Given the description of an element on the screen output the (x, y) to click on. 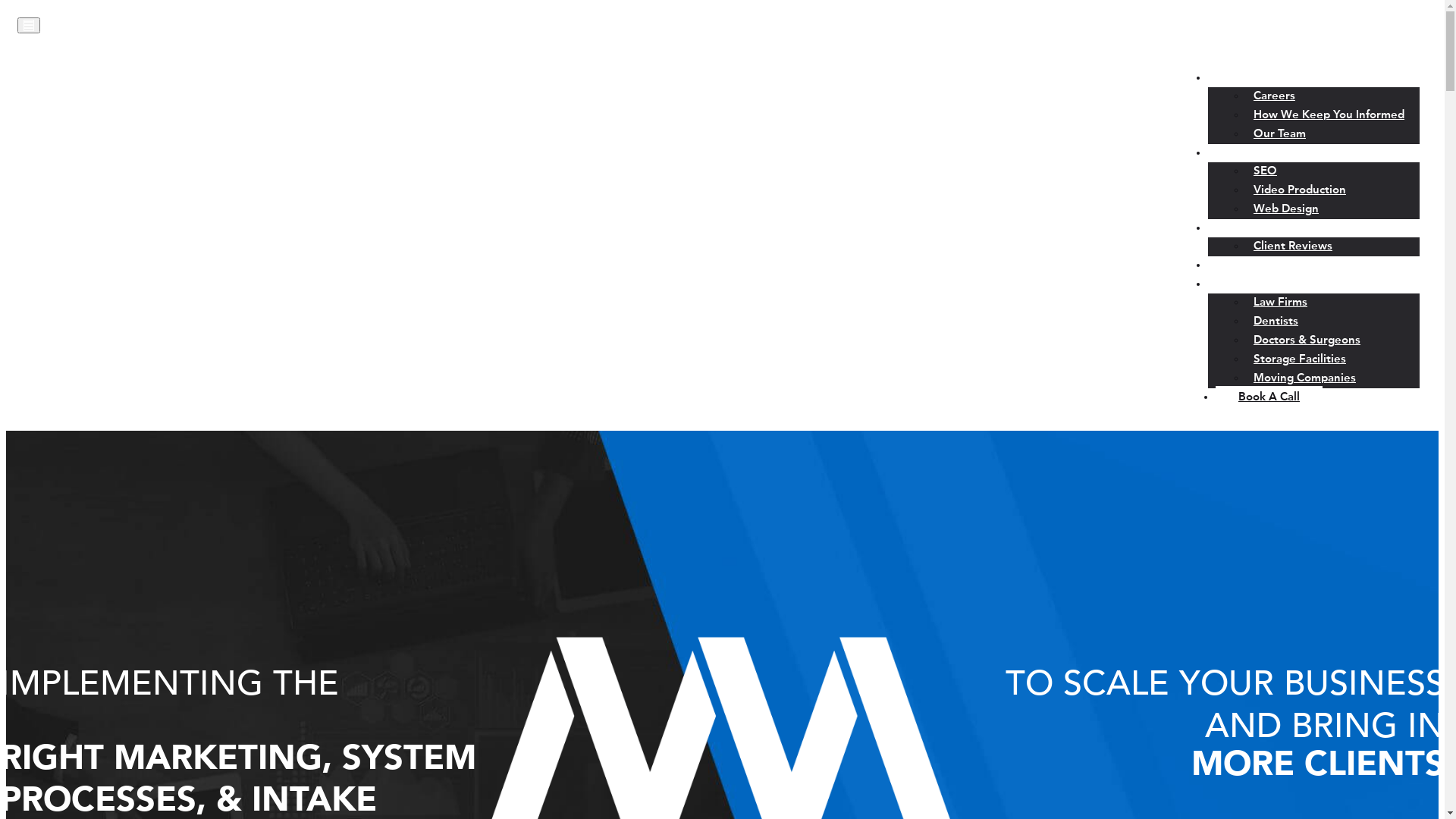
Resources Element type: text (1242, 265)
Who We Work With Element type: text (1269, 284)
Doctors & Surgeons Element type: text (1306, 340)
Careers Element type: text (1273, 96)
How We Keep You Informed Element type: text (1328, 115)
Our Team Element type: text (1279, 134)
Web Design Element type: text (1285, 209)
Services Element type: text (1237, 153)
Video Production Element type: text (1299, 190)
800-997-7336 Element type: text (1367, 40)
Moving Companies Element type: text (1304, 378)
SEO Element type: text (1264, 171)
About MMM Element type: text (1249, 78)
Law Firms Element type: text (1279, 302)
Storage Facilities Element type: text (1299, 359)
Dentists Element type: text (1275, 321)
Results Element type: text (1234, 228)
Client Reviews Element type: text (1292, 246)
Book A Call Element type: text (1268, 397)
